Given the description of an element on the screen output the (x, y) to click on. 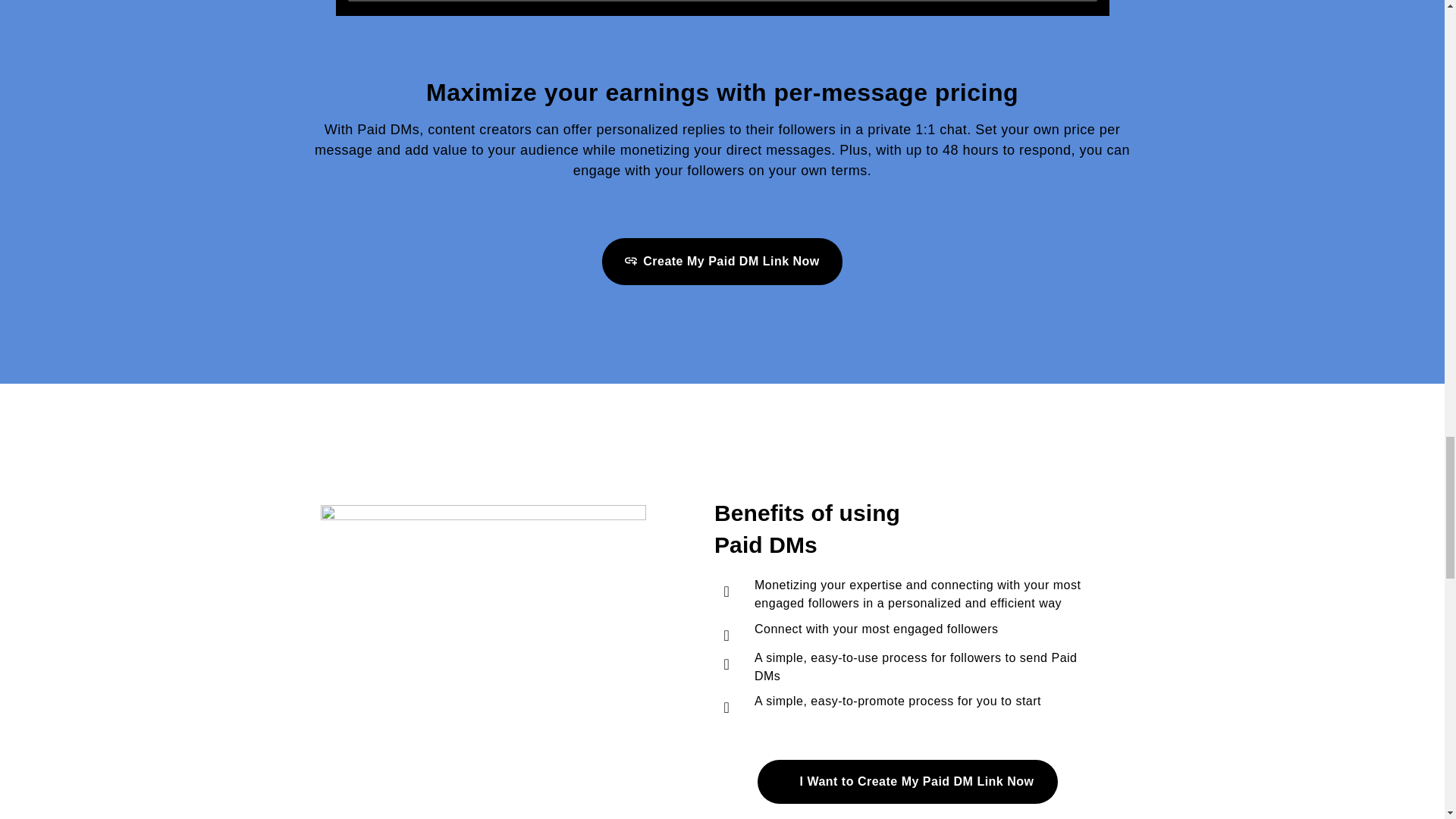
Create My Paid DM Link Now (722, 261)
I Want to Create My Paid DM Link Now (907, 781)
